Given the description of an element on the screen output the (x, y) to click on. 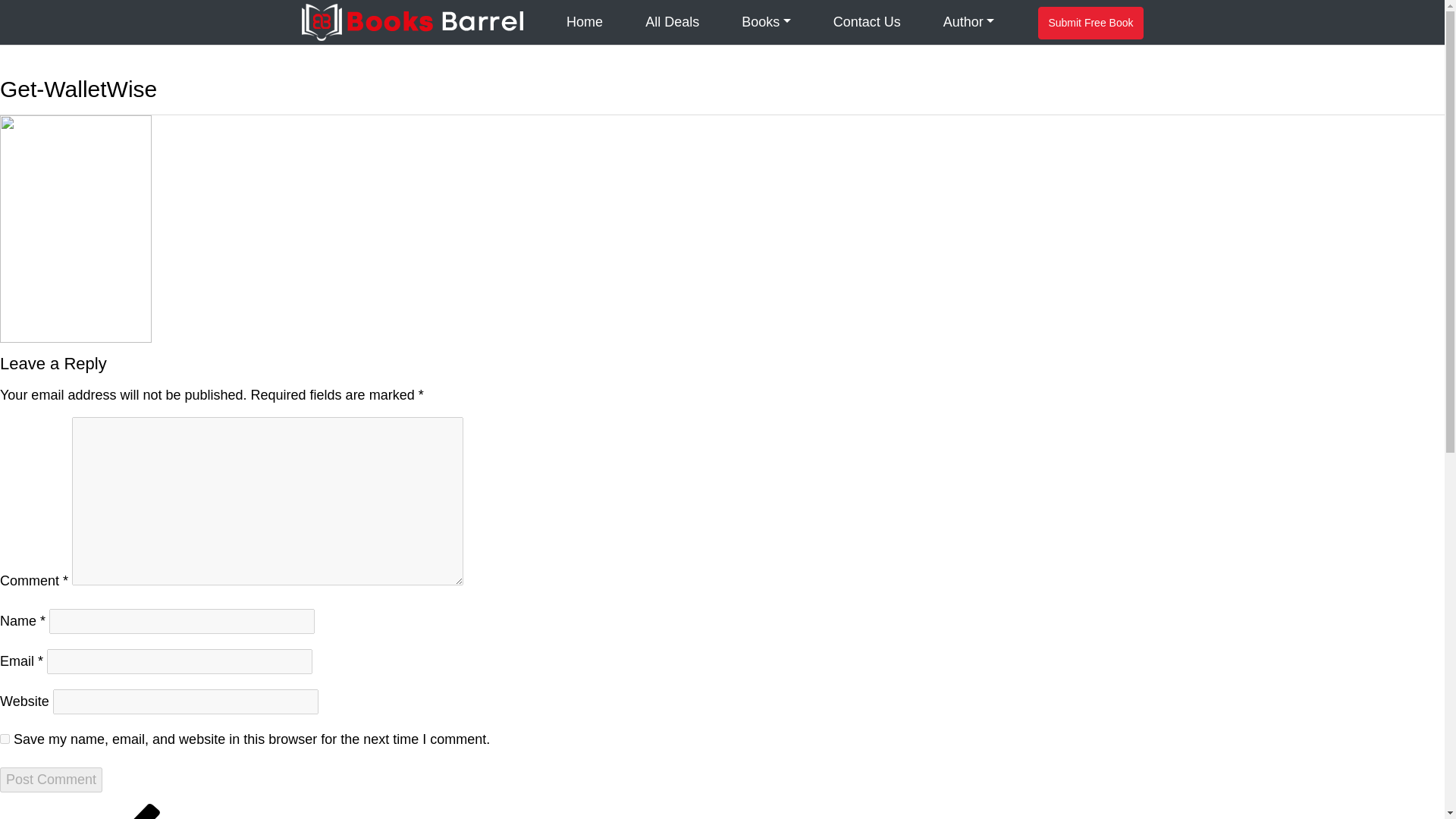
Post Comment (50, 779)
Contact Us (866, 22)
Author (969, 22)
Submit Free Book (1090, 22)
All Deals (672, 22)
Post Comment (50, 779)
yes (5, 738)
Home (584, 22)
Books (766, 22)
